Given the description of an element on the screen output the (x, y) to click on. 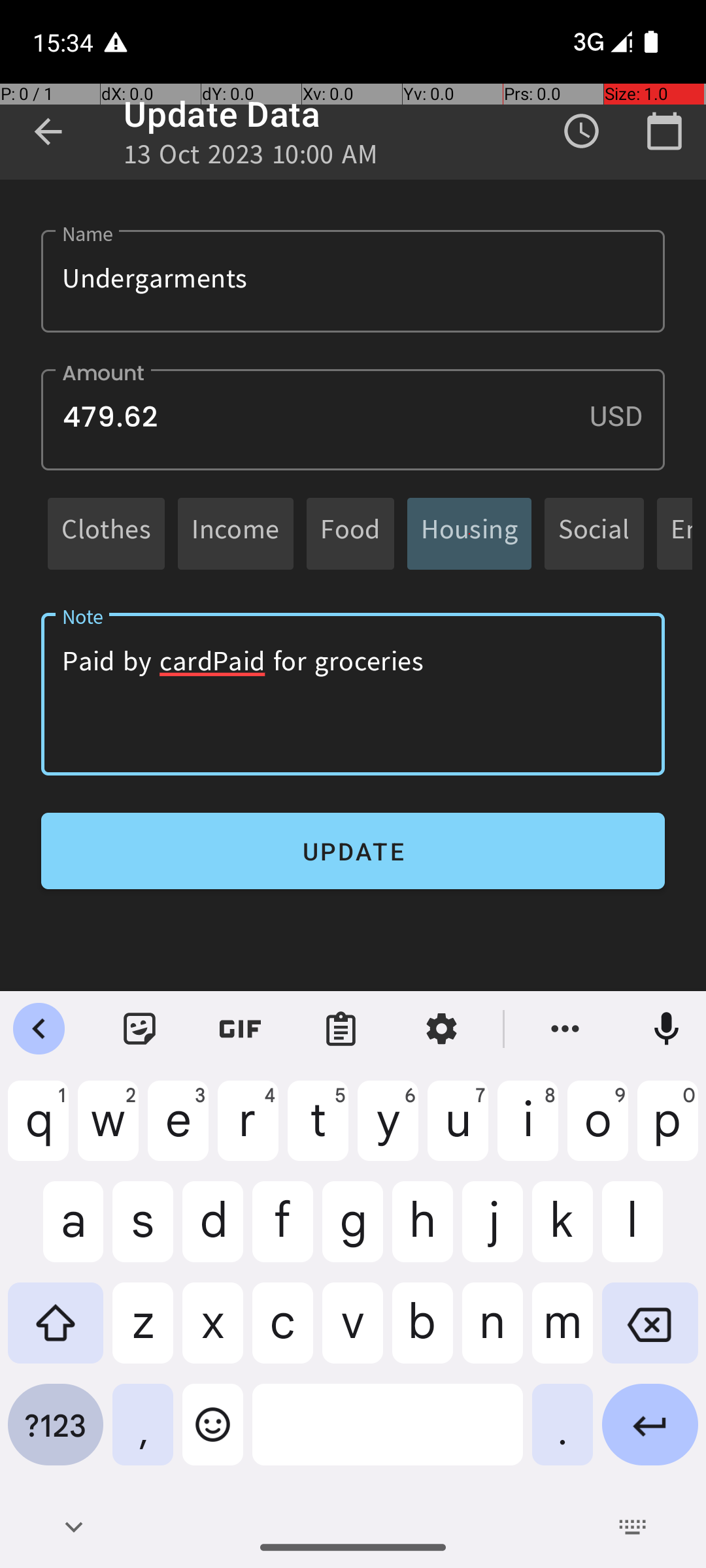
Update Data Element type: android.widget.TextView (221, 113)
13 Oct 2023 10:00 AM Element type: android.widget.TextView (250, 157)
Time Element type: android.widget.TextView (580, 131)
Calendar Element type: android.widget.TextView (664, 131)
Undergarments Element type: android.widget.EditText (352, 280)
479.62 Element type: android.widget.EditText (352, 419)
USD Element type: android.widget.TextView (626, 415)
Paid by cardPaid for groceries
 Element type: android.widget.EditText (352, 693)
UPDATE Element type: android.widget.Button (352, 850)
Clothes Element type: android.widget.TextView (106, 533)
Income Element type: android.widget.TextView (235, 533)
Food Element type: android.widget.TextView (350, 533)
Housing Element type: android.widget.TextView (468, 533)
Social Element type: android.widget.TextView (594, 533)
Entertainment Element type: android.widget.TextView (681, 533)
Close features menu Element type: android.widget.FrameLayout (39, 1028)
Sticker Keyboard Element type: android.widget.FrameLayout (139, 1028)
GIF Keyboard Element type: android.widget.FrameLayout (240, 1028)
Clipboard Element type: android.widget.FrameLayout (340, 1028)
More features Element type: android.widget.FrameLayout (565, 1028)
Voice input Element type: android.widget.FrameLayout (666, 1028)
q Element type: android.widget.FrameLayout (38, 1130)
w Element type: android.widget.FrameLayout (108, 1130)
e Element type: android.widget.FrameLayout (178, 1130)
r Element type: android.widget.FrameLayout (248, 1130)
t Element type: android.widget.FrameLayout (318, 1130)
y Element type: android.widget.FrameLayout (387, 1130)
u Element type: android.widget.FrameLayout (457, 1130)
i Element type: android.widget.FrameLayout (527, 1130)
o Element type: android.widget.FrameLayout (597, 1130)
p Element type: android.widget.FrameLayout (667, 1130)
a Element type: android.widget.FrameLayout (55, 1231)
s Element type: android.widget.FrameLayout (142, 1231)
d Element type: android.widget.FrameLayout (212, 1231)
f Element type: android.widget.FrameLayout (282, 1231)
g Element type: android.widget.FrameLayout (352, 1231)
h Element type: android.widget.FrameLayout (422, 1231)
j Element type: android.widget.FrameLayout (492, 1231)
k Element type: android.widget.FrameLayout (562, 1231)
l Element type: android.widget.FrameLayout (649, 1231)
z Element type: android.widget.FrameLayout (142, 1332)
x Element type: android.widget.FrameLayout (212, 1332)
c Element type: android.widget.FrameLayout (282, 1332)
v Element type: android.widget.FrameLayout (352, 1332)
b Element type: android.widget.FrameLayout (422, 1332)
n Element type: android.widget.FrameLayout (492, 1332)
m Element type: android.widget.FrameLayout (562, 1332)
Emoji button Element type: android.widget.FrameLayout (212, 1434)
Enter Element type: android.widget.FrameLayout (649, 1434)
